Given the description of an element on the screen output the (x, y) to click on. 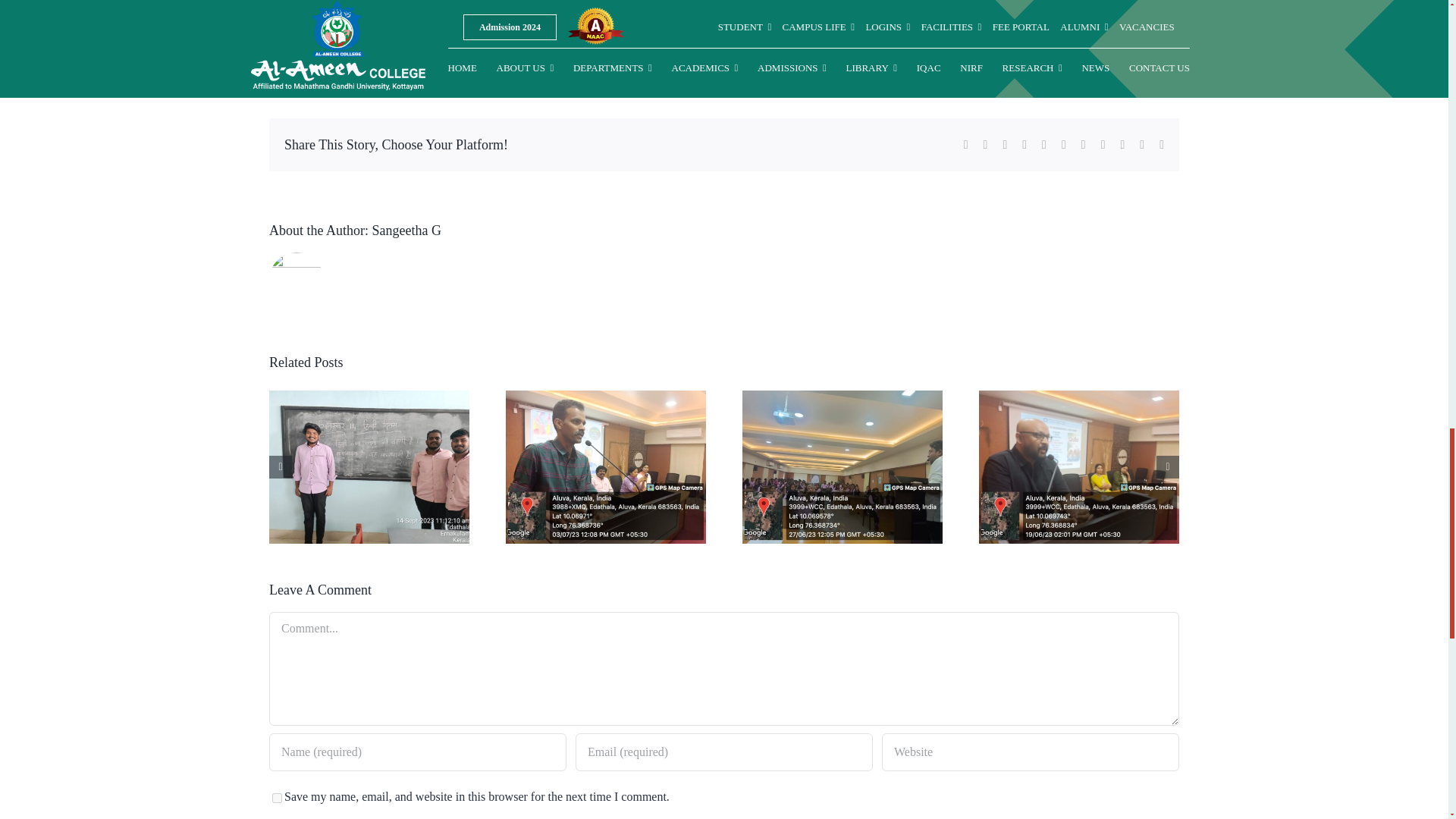
Posts by Sangeetha G (406, 230)
Posts by Sangeetha G (307, 59)
yes (277, 798)
